Given the description of an element on the screen output the (x, y) to click on. 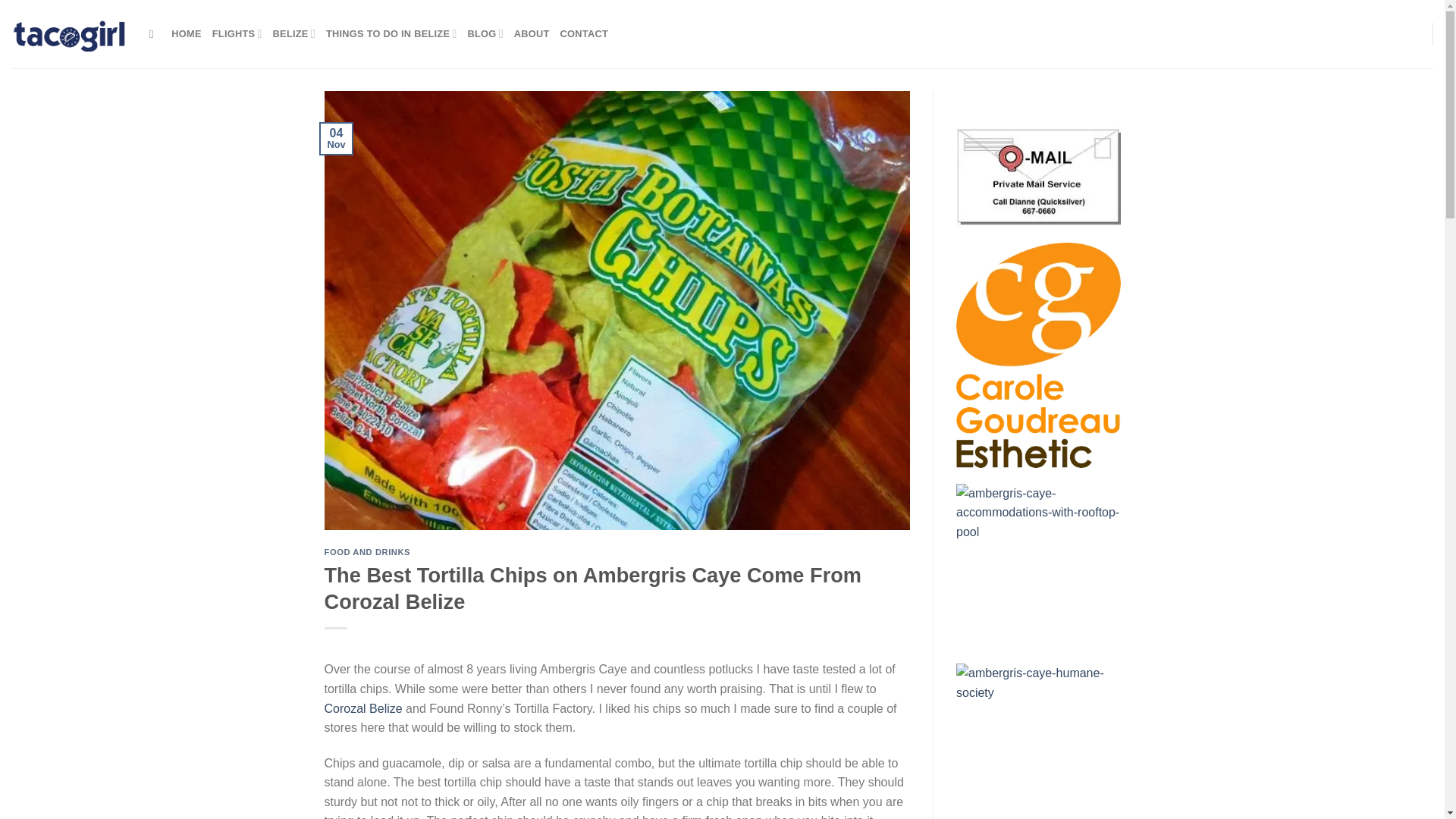
BELIZE (294, 33)
FOOD AND DRINKS (367, 551)
BLOG (484, 33)
CONTACT (584, 33)
HOME (185, 33)
THINGS TO DO IN BELIZE (391, 33)
ABOUT (531, 33)
tacogirl Belize - Blogging Belize since 2007 (68, 33)
Corozal Belize (363, 707)
FLIGHTS (237, 33)
